Given the description of an element on the screen output the (x, y) to click on. 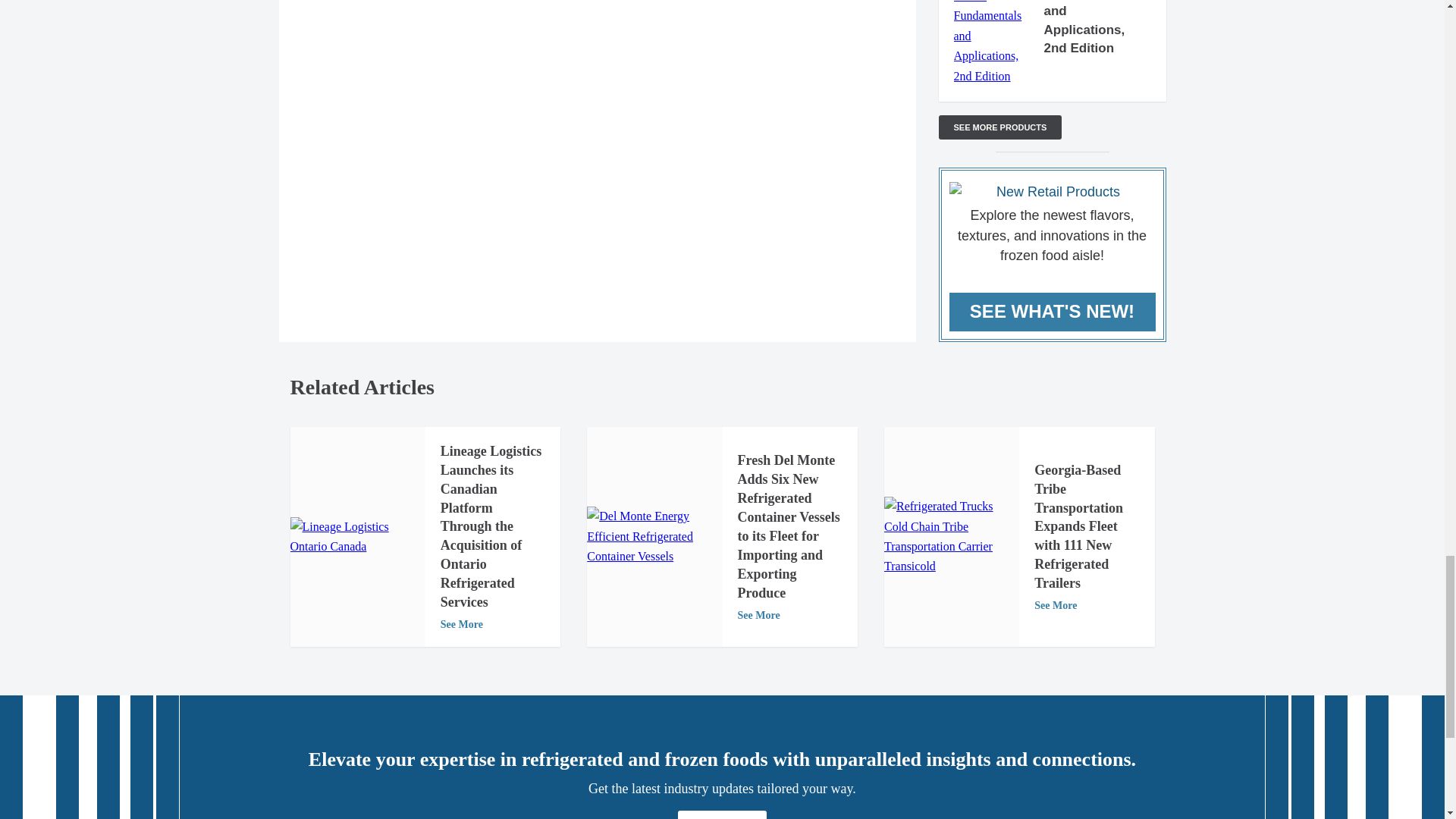
Lineage Logistics Ontario Canada (357, 536)
Fresh Del Monte Produce Logo (654, 536)
